Given the description of an element on the screen output the (x, y) to click on. 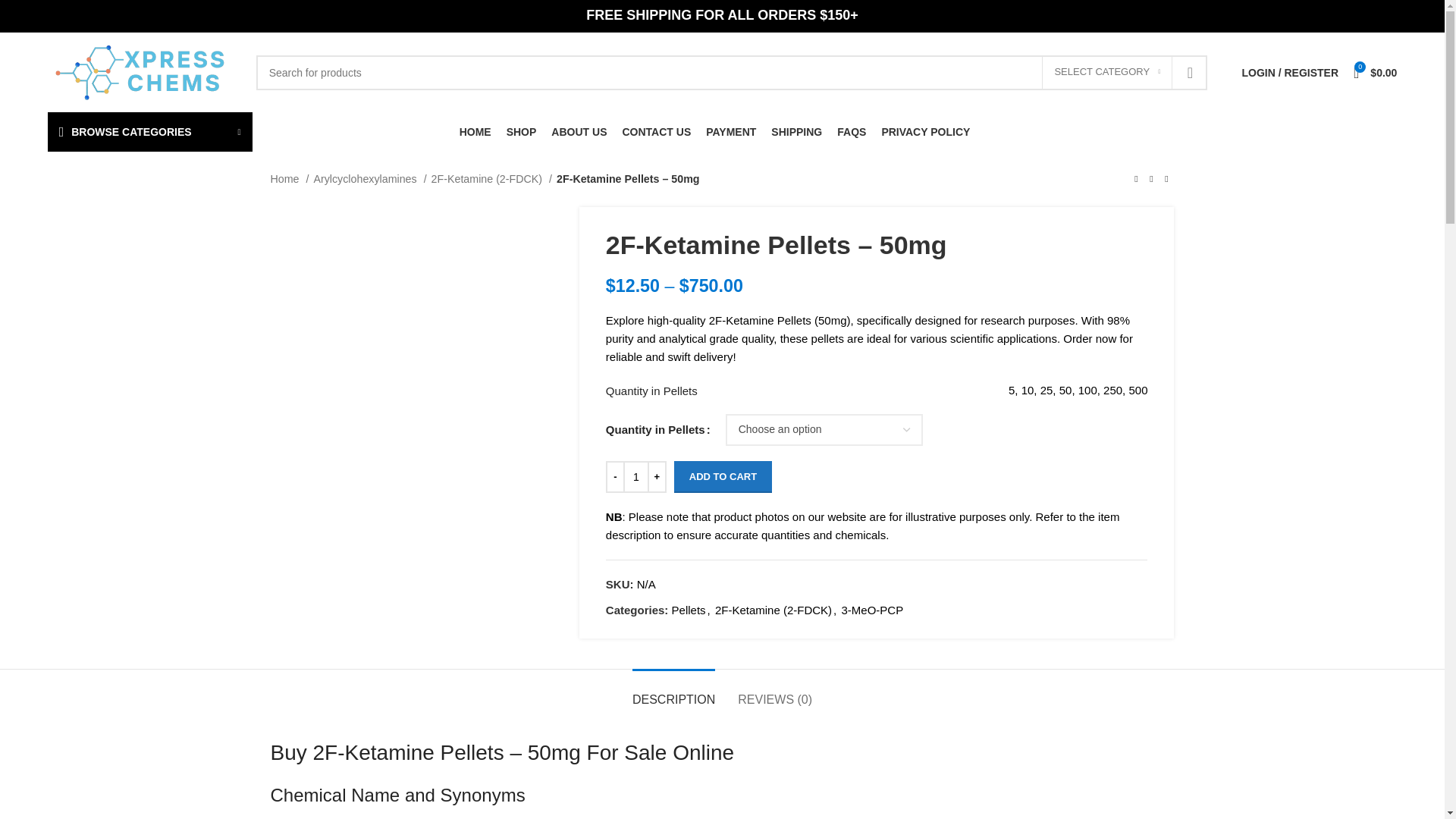
SELECT CATEGORY (1107, 71)
SELECT CATEGORY (1107, 71)
Shopping cart (1375, 72)
Search for products (732, 71)
My account (1289, 72)
